Given the description of an element on the screen output the (x, y) to click on. 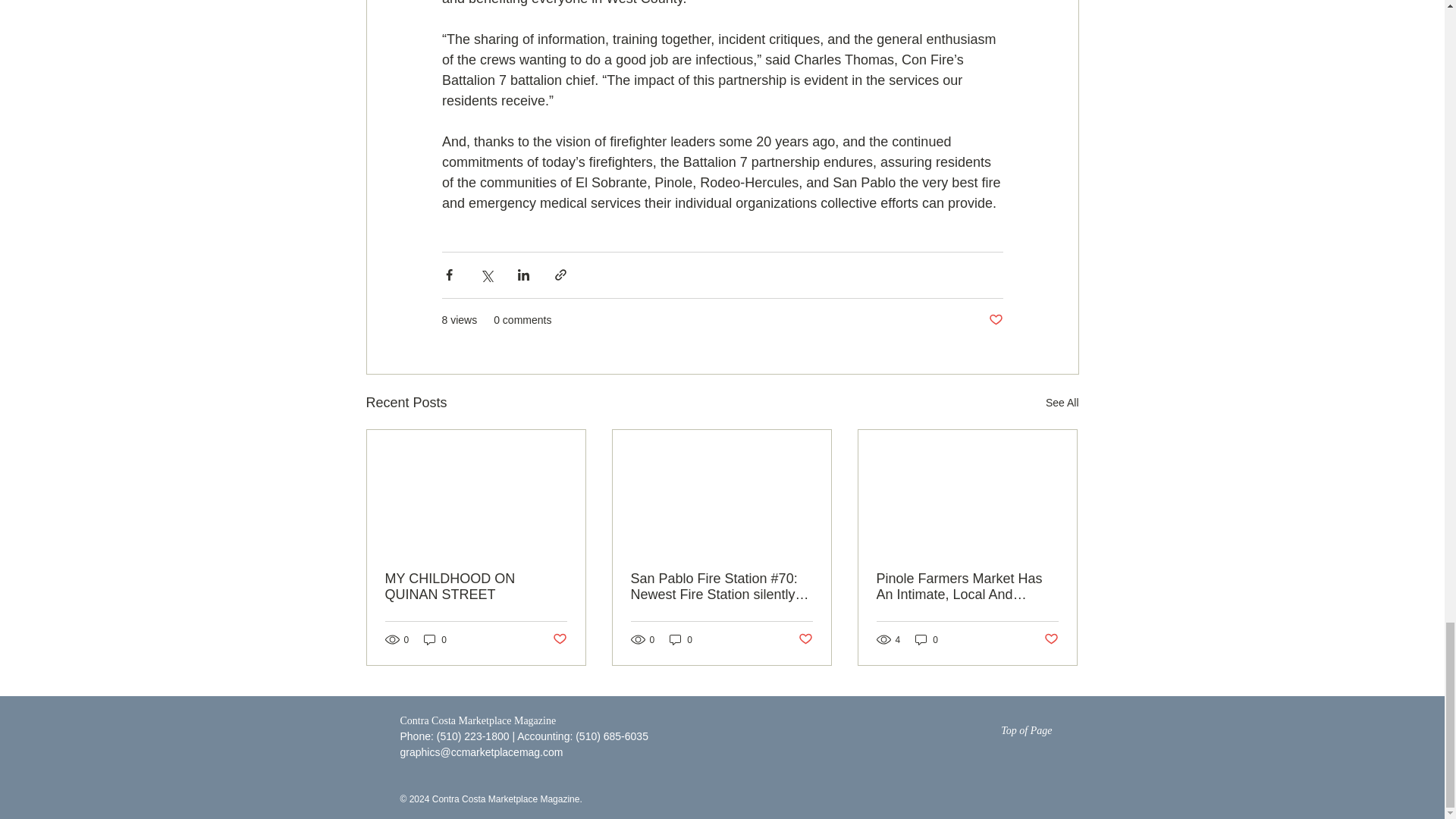
Post not marked as liked (995, 320)
0 (926, 639)
Post not marked as liked (804, 639)
See All (1061, 403)
Post not marked as liked (558, 639)
0 (435, 639)
0 (681, 639)
MY CHILDHOOD ON QUINAN STREET (476, 586)
